Given the description of an element on the screen output the (x, y) to click on. 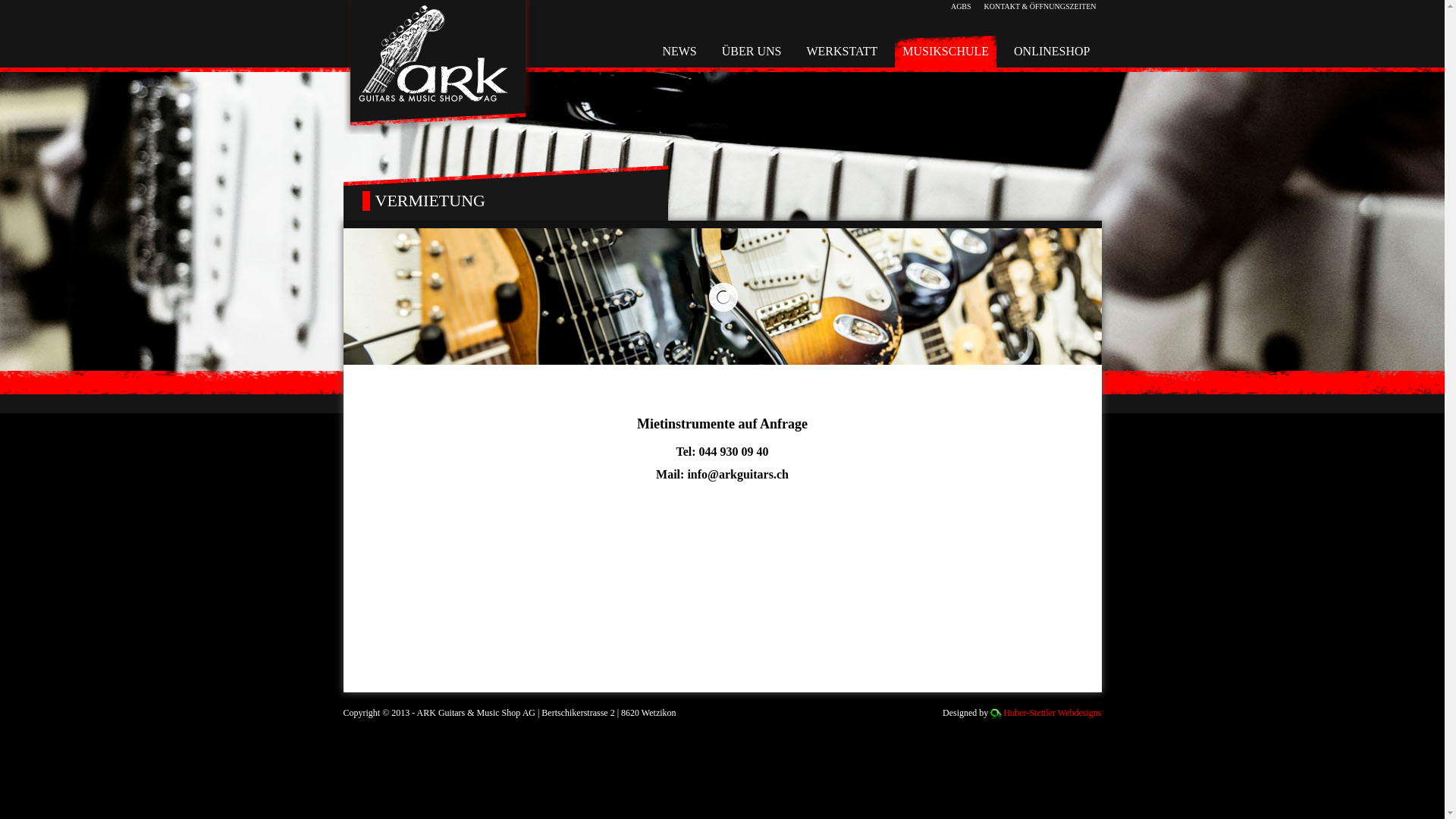
ONLINESHOP Element type: text (1051, 51)
WERKSTATT Element type: text (841, 51)
AGBS Element type: text (960, 6)
Huber-Stettler Webdesigns Element type: text (1052, 712)
MUSIKSCHULE Element type: text (945, 51)
NEWS Element type: text (678, 51)
